Given the description of an element on the screen output the (x, y) to click on. 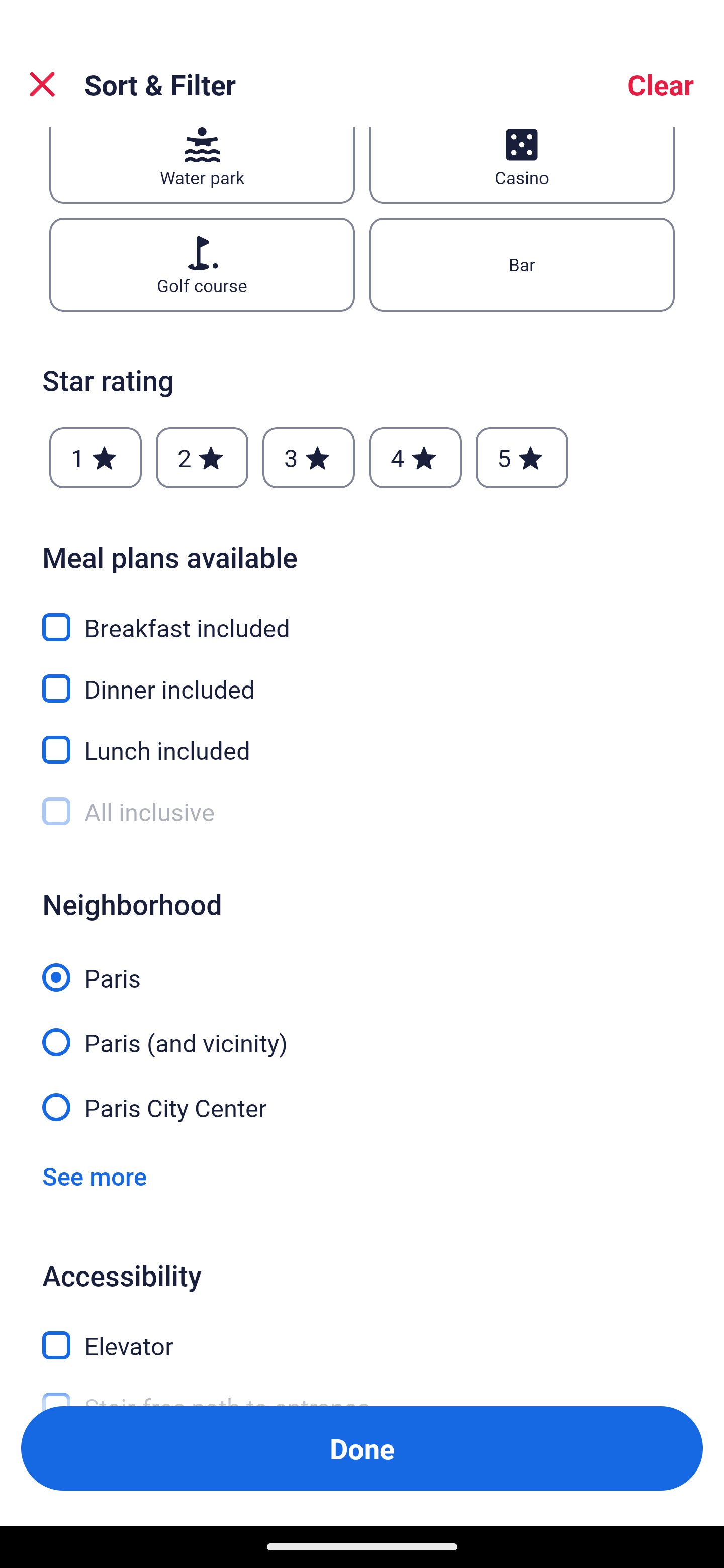
Close Sort and Filter (42, 84)
Clear (660, 84)
Water park (201, 165)
Casino (521, 165)
Golf course (201, 264)
Bar (521, 264)
1 (95, 457)
2 (201, 457)
3 (308, 457)
4 (415, 457)
5 (521, 457)
Breakfast included, Breakfast included (361, 615)
Dinner included, Dinner included (361, 677)
Lunch included, Lunch included (361, 738)
All inclusive, All inclusive (361, 811)
Paris (and vicinity) (361, 1031)
Paris City Center (361, 1105)
See more See more neighborhoods Link (93, 1175)
Elevator, Elevator (361, 1334)
Apply and close Sort and Filter Done (361, 1448)
